Given the description of an element on the screen output the (x, y) to click on. 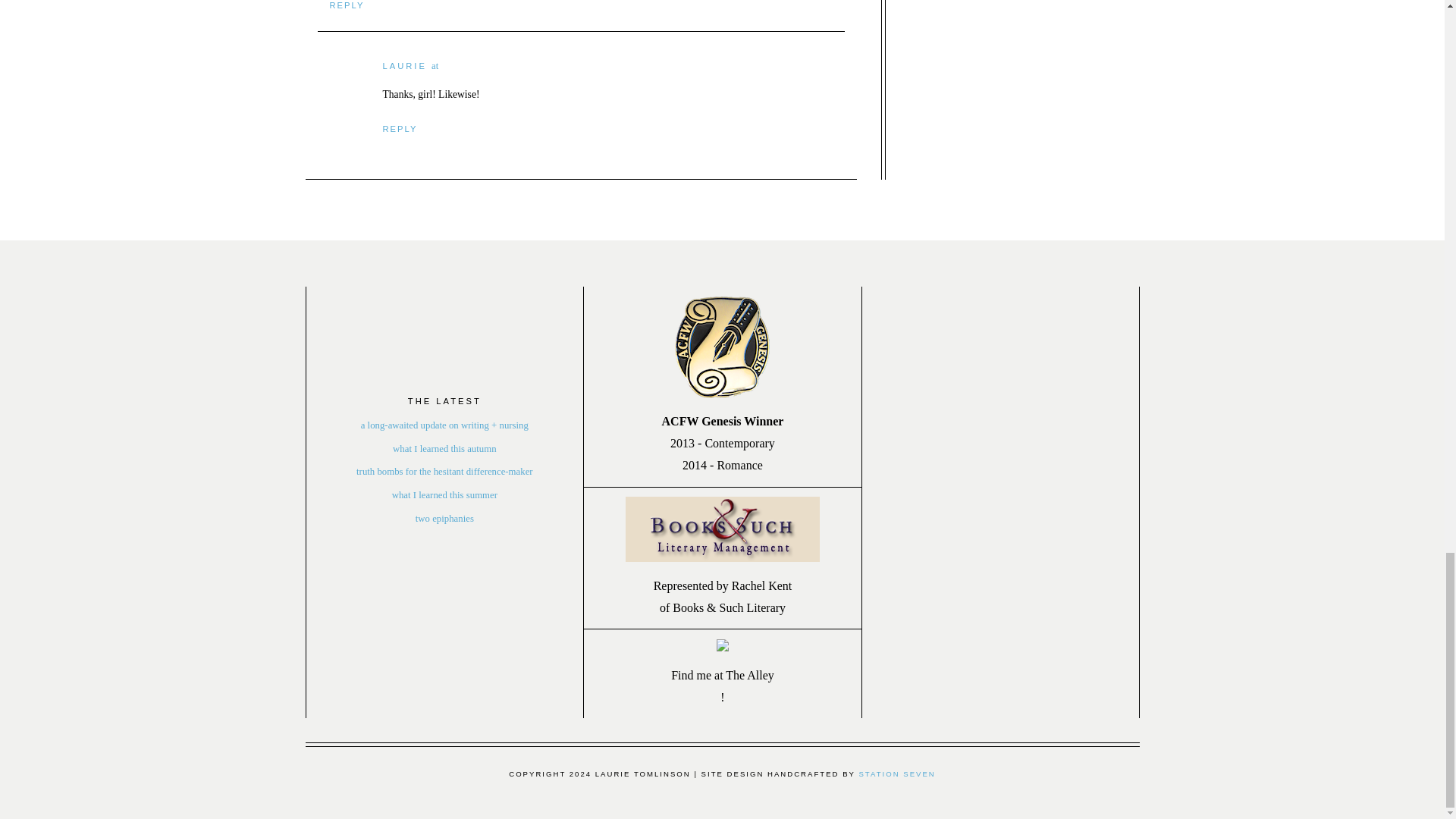
at (434, 65)
LAURIE (403, 65)
REPLY (398, 128)
REPLY (346, 4)
